Given the description of an element on the screen output the (x, y) to click on. 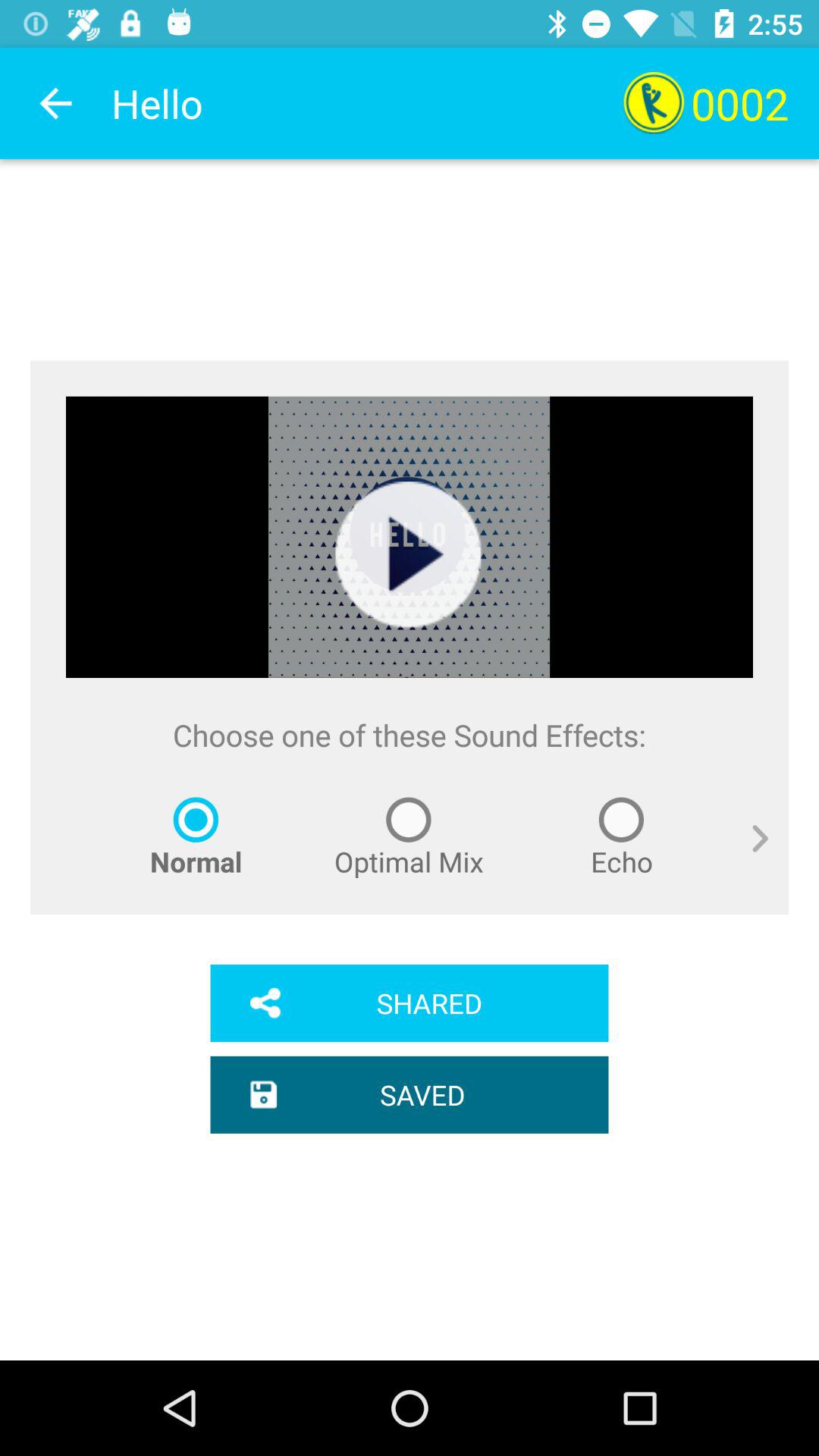
select the icon next to hello app (55, 103)
